Given the description of an element on the screen output the (x, y) to click on. 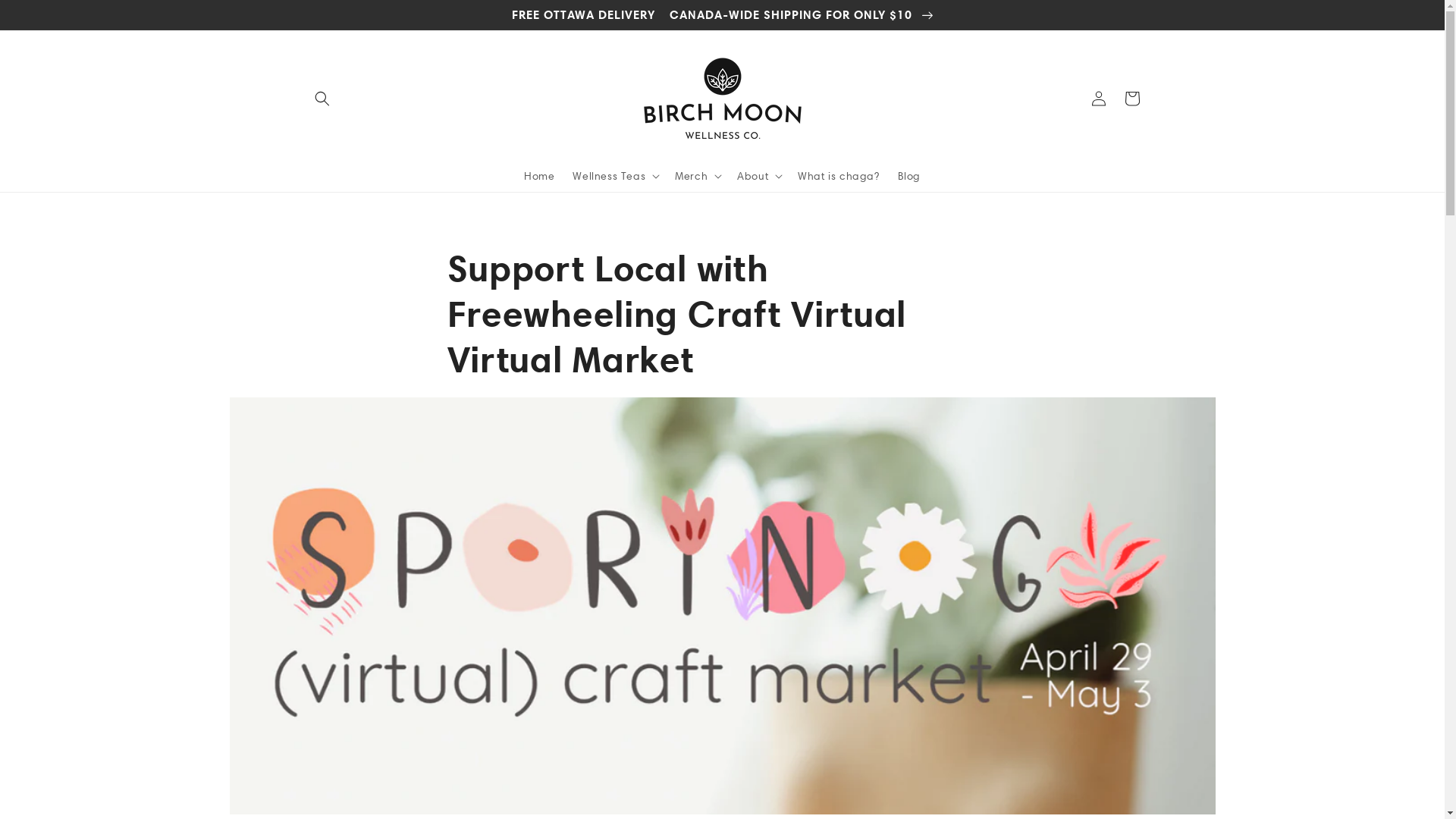
Home Element type: text (538, 175)
Log in Element type: text (1097, 98)
Blog Element type: text (908, 175)
What is chaga? Element type: text (838, 175)
Cart Element type: text (1131, 98)
